Given the description of an element on the screen output the (x, y) to click on. 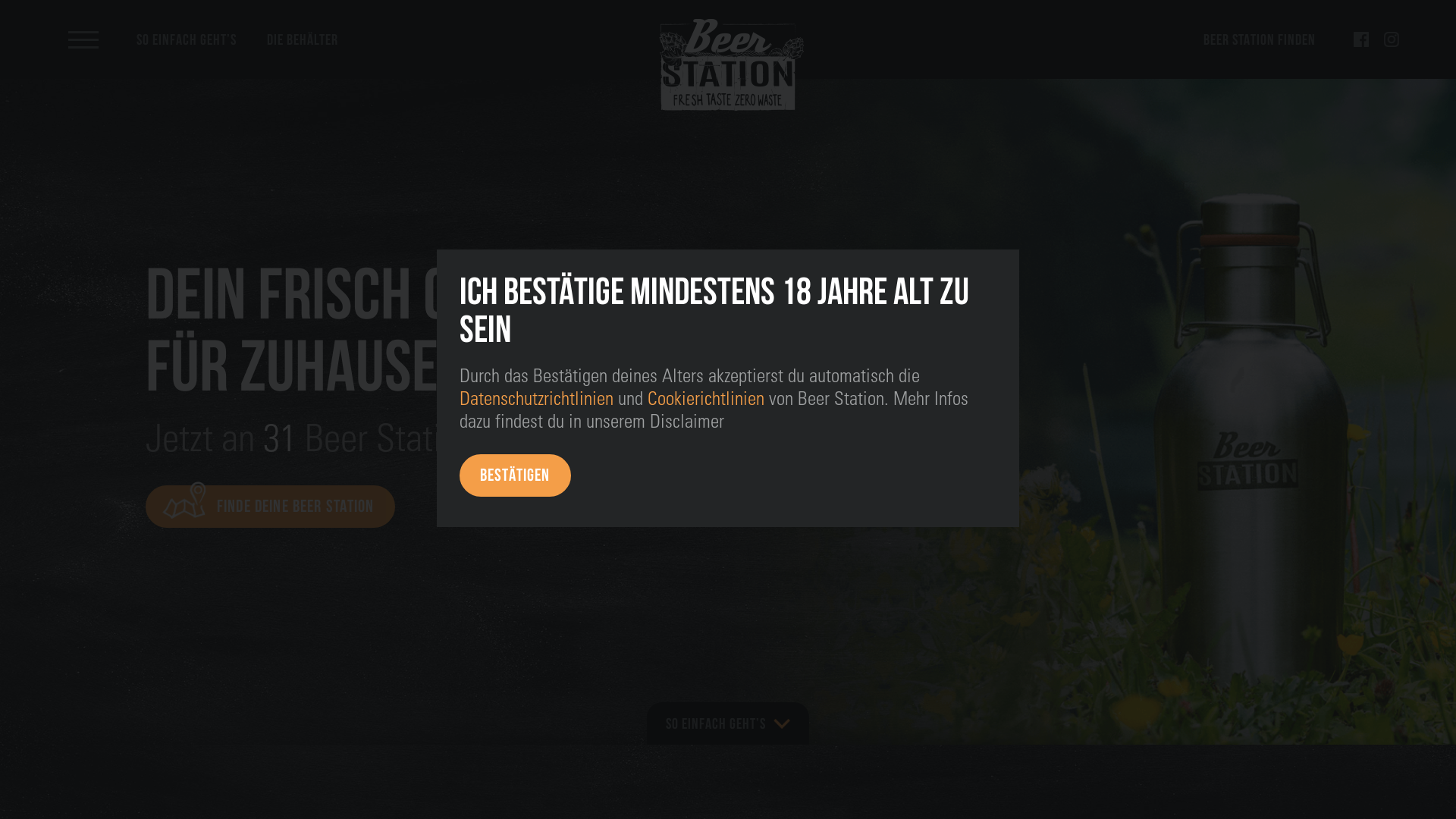
Prev Element type: text (19, 411)
BEER STATION FINDEN Element type: text (1259, 39)
Next Element type: text (1436, 411)
INSTAGRAM Element type: text (1391, 39)
FACEBOOK Element type: text (1360, 39)
FINDE DEINE BEER STATION Element type: text (270, 506)
Beer Station Element type: text (727, 66)
Cookierichtlinien Element type: text (705, 396)
Datenschutzrichtlinien Element type: text (536, 396)
